Given the description of an element on the screen output the (x, y) to click on. 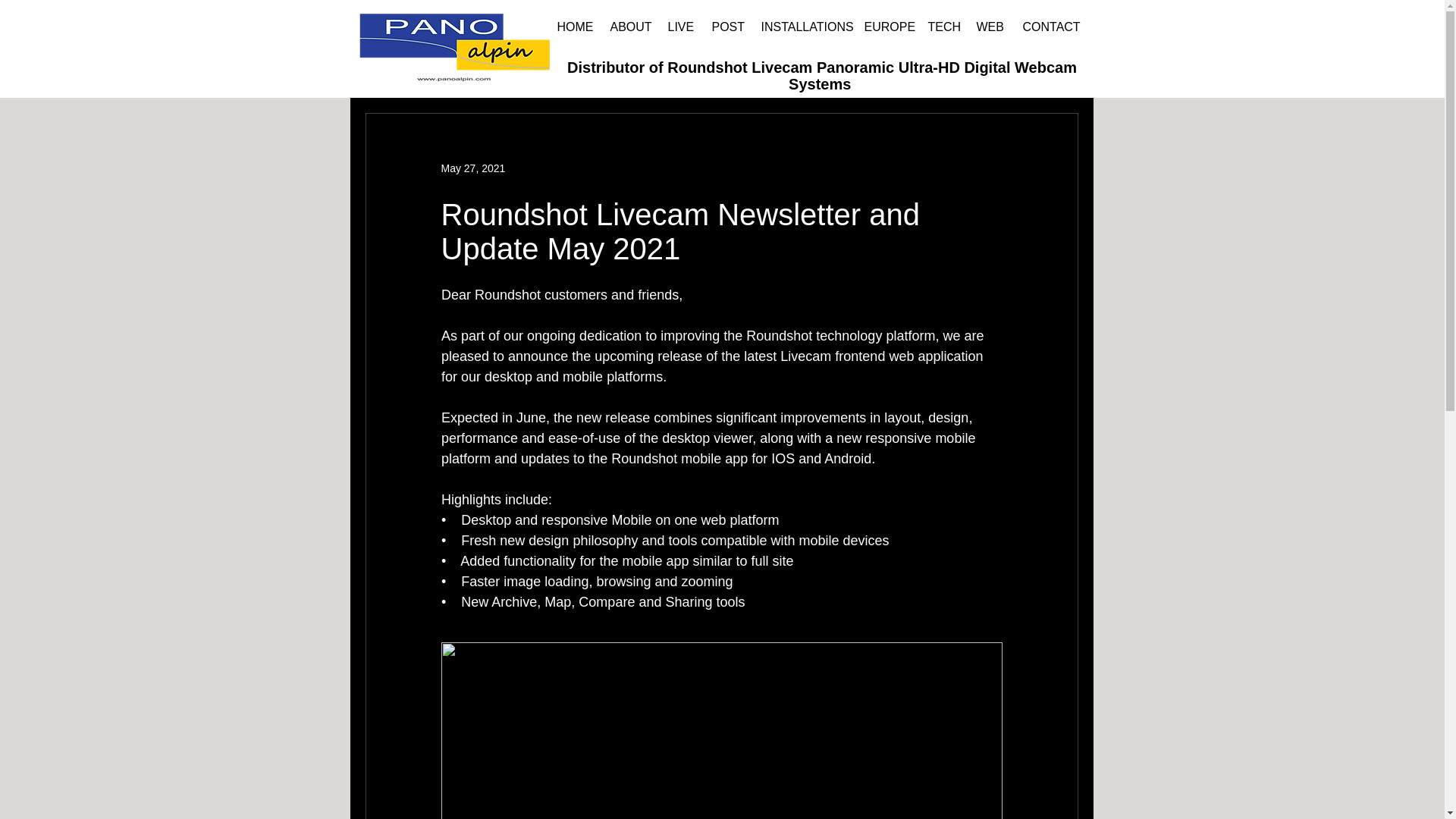
WEB (986, 27)
INSTALLATIONS (800, 27)
ABOUT (627, 27)
May 27, 2021 (473, 168)
TECH (939, 27)
EUROPE (883, 27)
LIVE (678, 27)
HOME (572, 27)
POST (724, 27)
CONTACT (1046, 27)
